Given the description of an element on the screen output the (x, y) to click on. 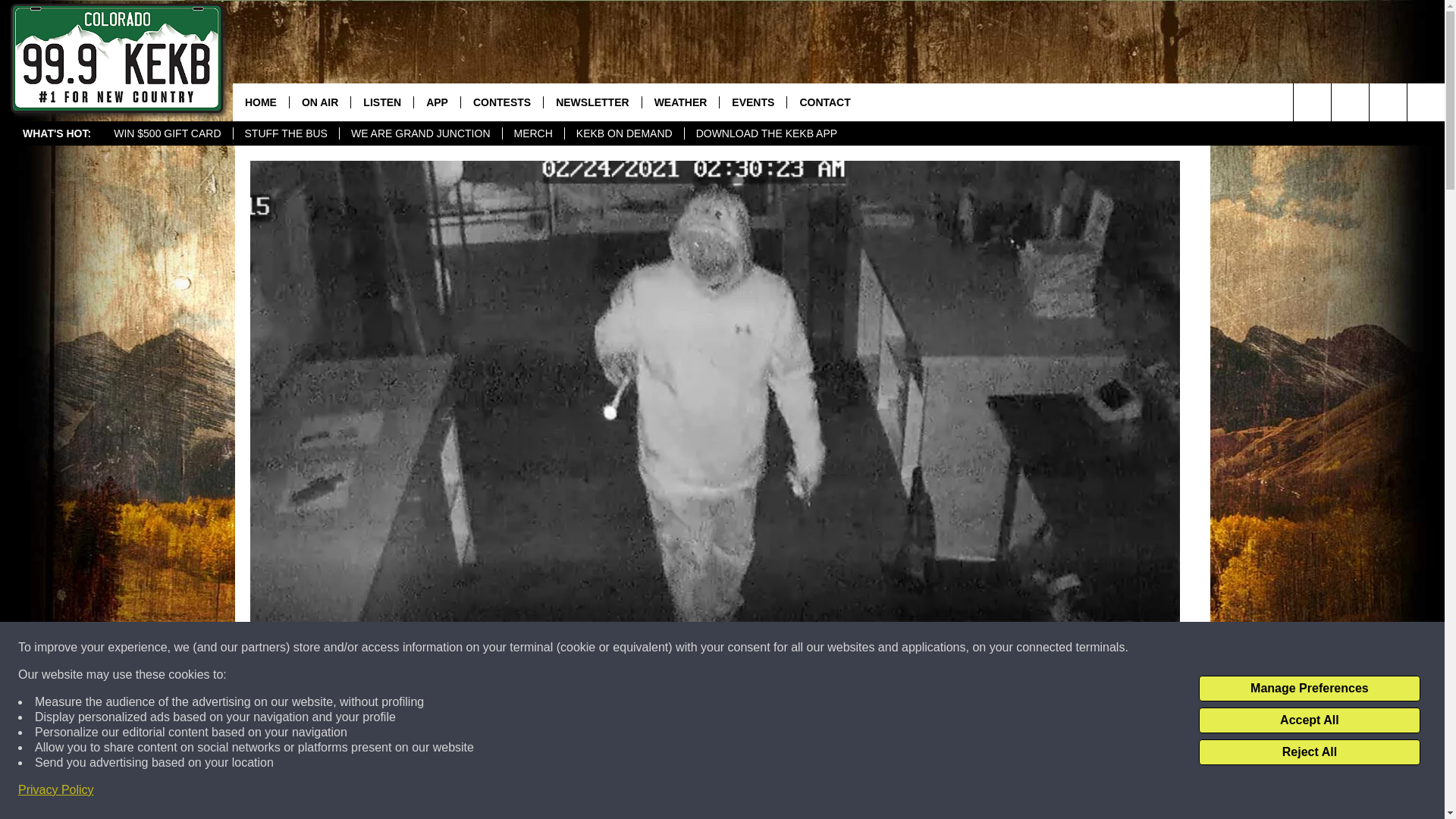
KEKB ON DEMAND (624, 133)
Accept All (1309, 720)
Manage Preferences (1309, 688)
Share on Twitter (912, 791)
CONTESTS (501, 102)
DOWNLOAD THE KEKB APP (766, 133)
LISTEN (381, 102)
APP (436, 102)
WE ARE GRAND JUNCTION (420, 133)
MERCH (533, 133)
Privacy Policy (55, 789)
Share on Facebook (517, 791)
Reject All (1309, 751)
WHAT'S HOT: (56, 133)
ON AIR (319, 102)
